Given the description of an element on the screen output the (x, y) to click on. 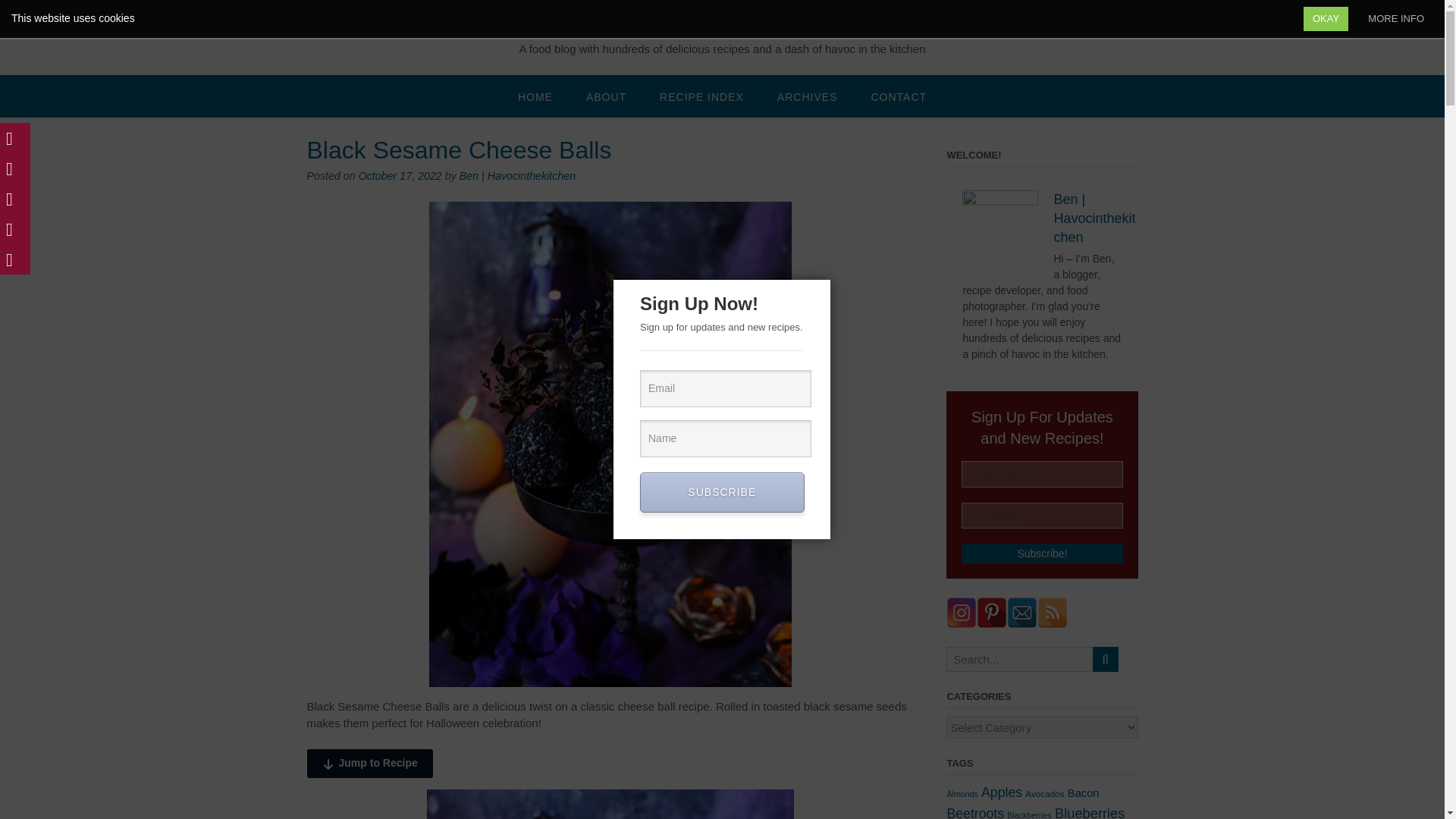
RECIPE INDEX (701, 96)
Subscribe! (1041, 553)
RSS Feed (1051, 612)
Email (1021, 612)
Jump to Recipe (368, 763)
ARCHIVES (807, 96)
CONTACT (898, 96)
Email (725, 388)
HOME (534, 96)
Search for: (1019, 659)
Instagram (961, 612)
First name (1041, 515)
Email Address (1041, 474)
October 17, 2022 (400, 175)
Pinterest (991, 612)
